Given the description of an element on the screen output the (x, y) to click on. 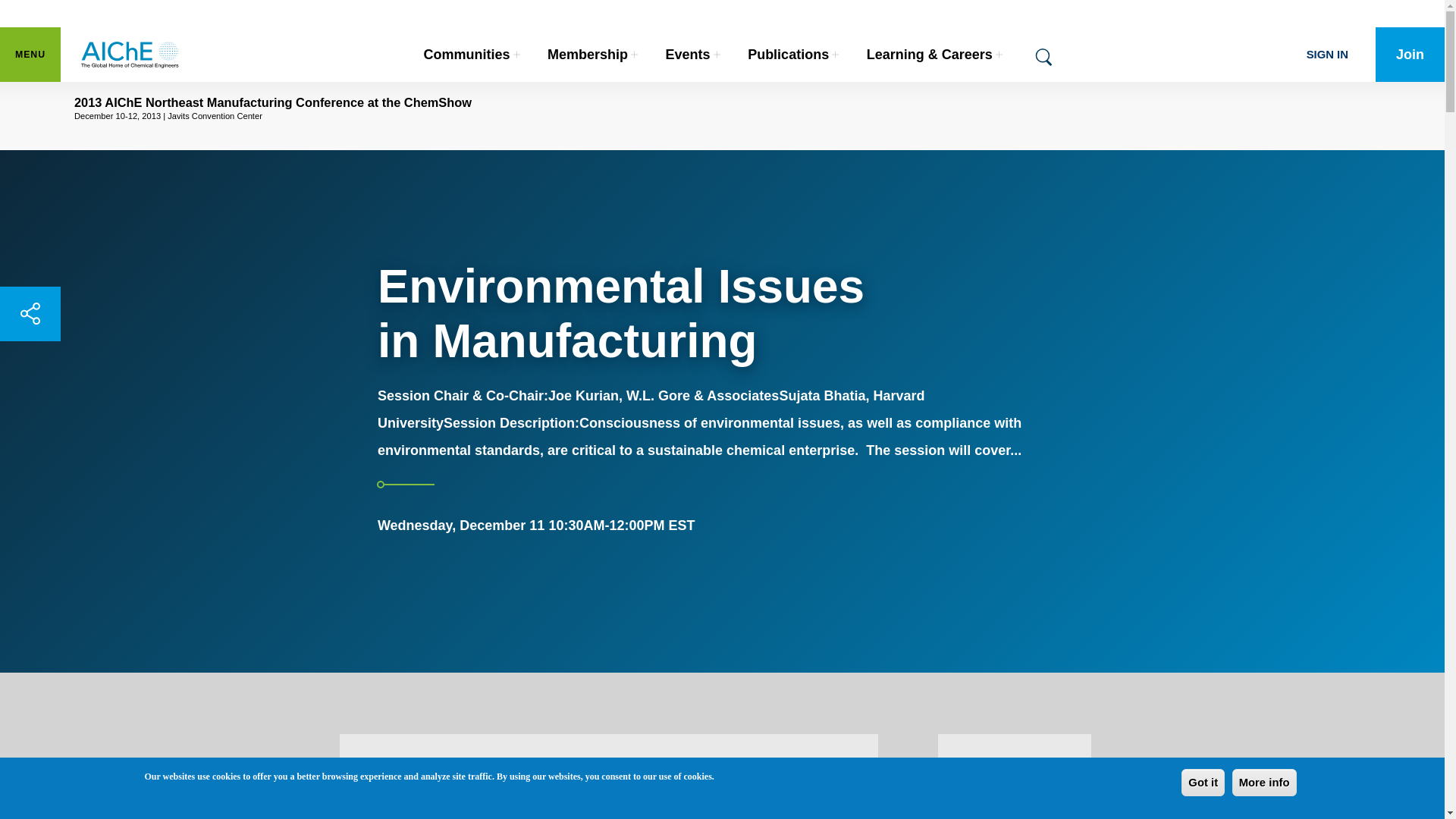
3rd party ad content (1014, 761)
3rd party ad content (472, 54)
More info (609, 761)
Got it (1264, 782)
Go to AIChE Home (1202, 782)
